Given the description of an element on the screen output the (x, y) to click on. 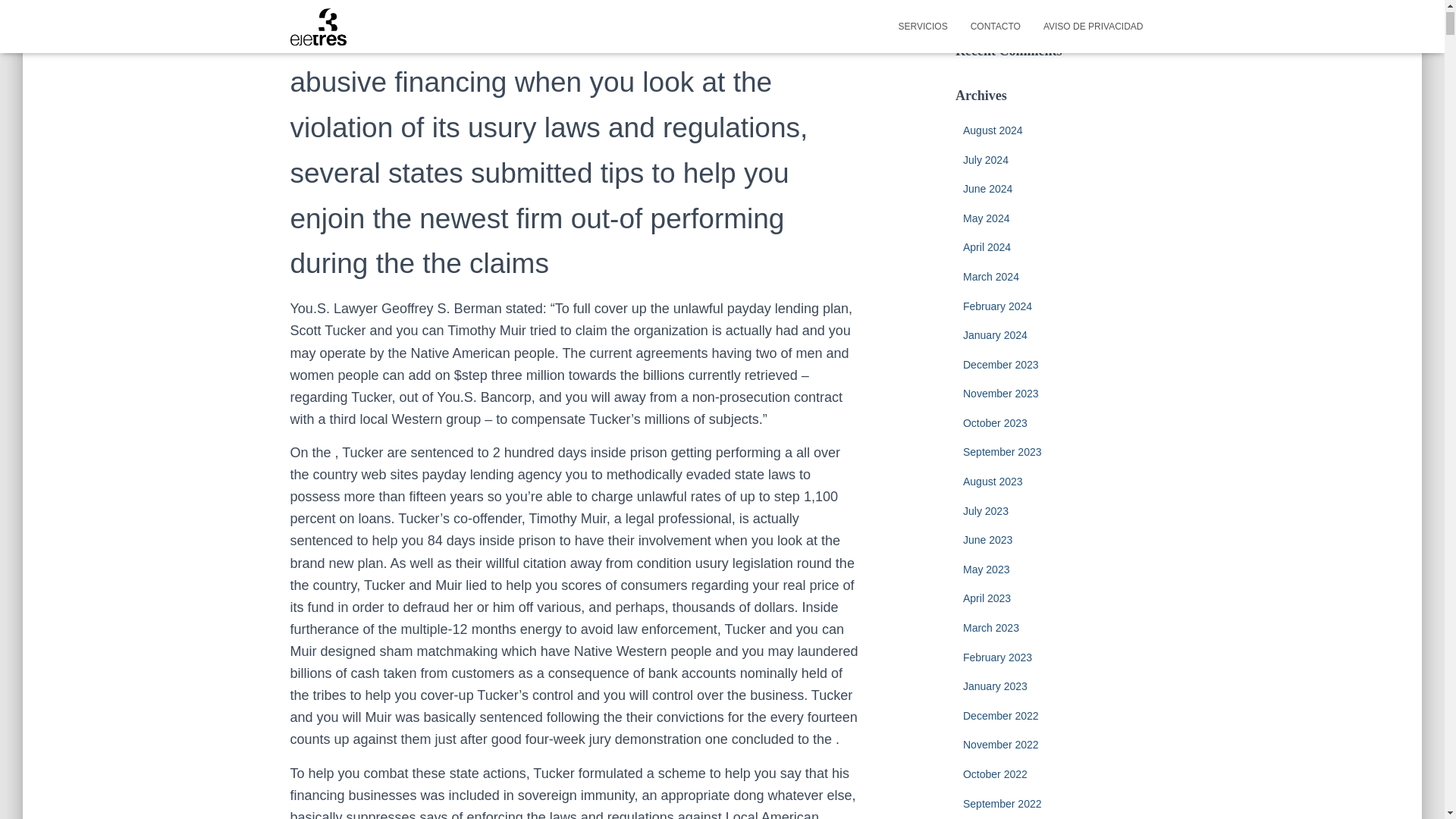
August 2024 (992, 130)
December 2022 (1000, 715)
November 2023 (1000, 393)
February 2023 (997, 657)
June 2024 (986, 188)
May 2024 (985, 218)
March 2023 (990, 627)
January 2024 (994, 335)
April 2024 (986, 246)
May 2023 (985, 569)
